Given the description of an element on the screen output the (x, y) to click on. 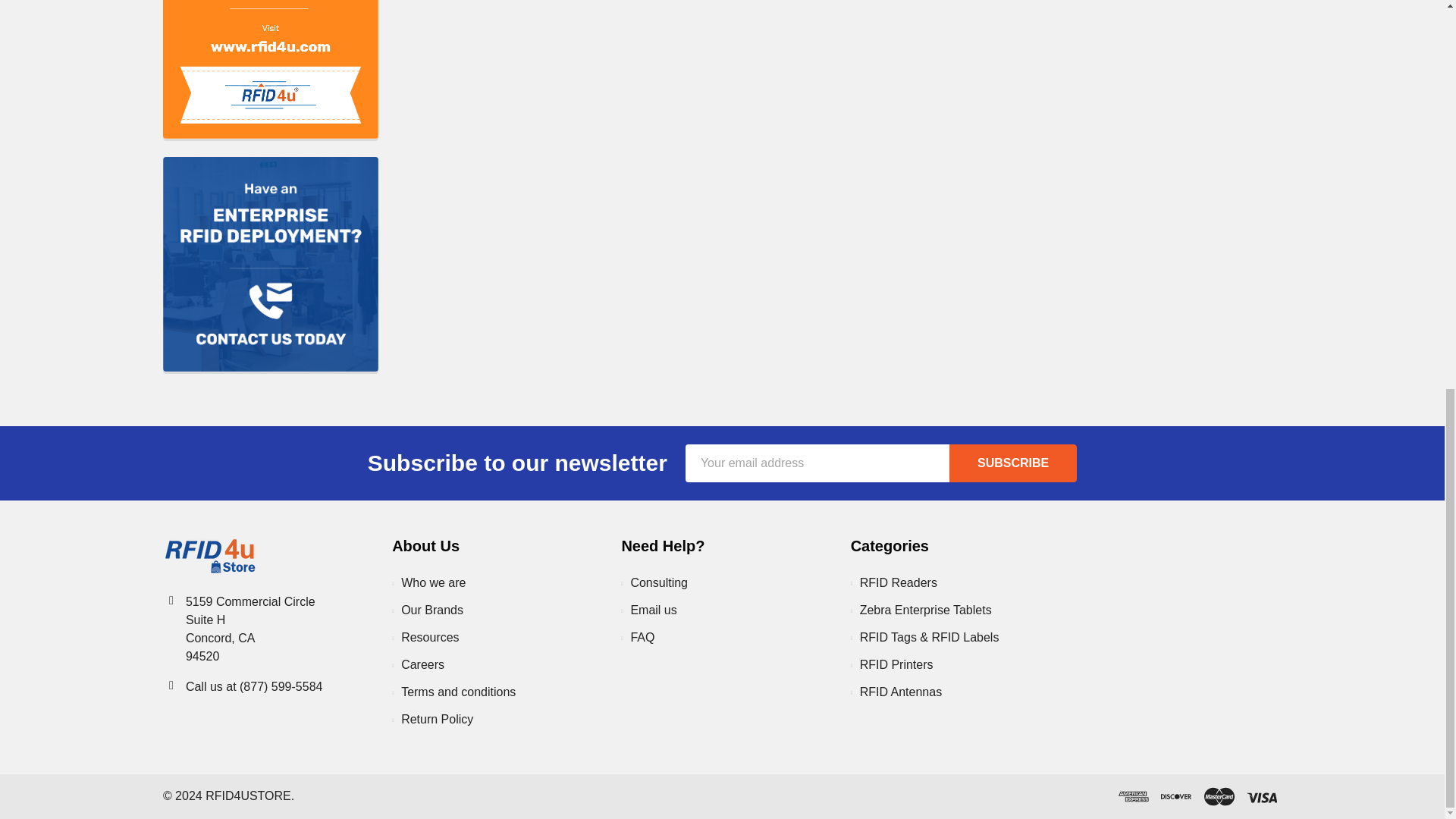
RFID4USTORE (210, 555)
Enterprise RFID Deployment (270, 264)
Subscribe (1013, 463)
